Given the description of an element on the screen output the (x, y) to click on. 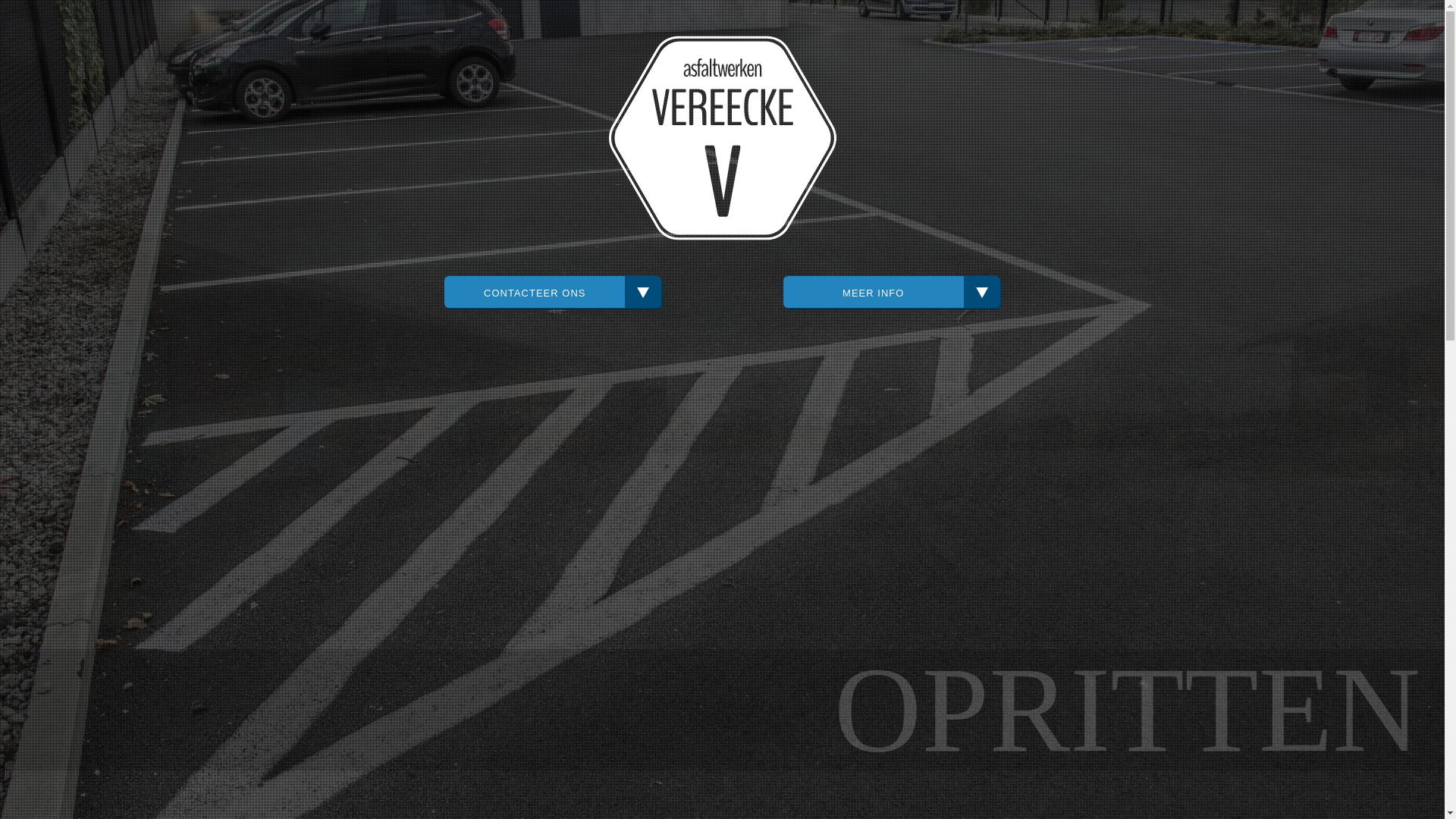
MEER INFO Element type: text (891, 291)
CONTACTEER ONS Element type: text (552, 291)
